Given the description of an element on the screen output the (x, y) to click on. 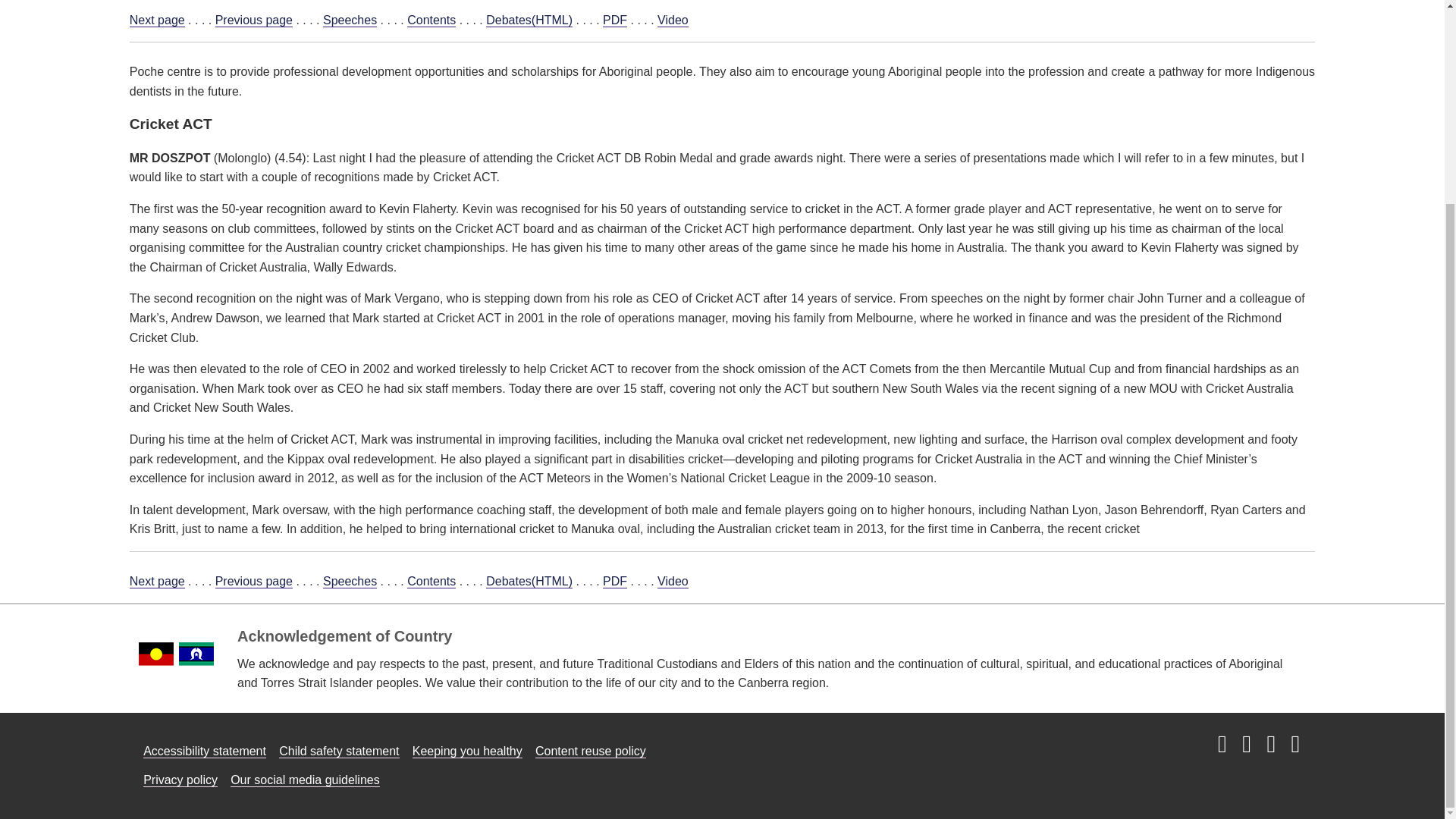
Child safety statement (338, 751)
Read our privacy policy (179, 780)
Accessibility statement (204, 751)
Previous page (253, 20)
Read our access and inclusion statement (204, 751)
Video (673, 581)
Read our content sharing and re-use policy (590, 751)
Read about how we're keeping our Assembly healthy (467, 751)
Previous page (253, 581)
Keeping you healthy (467, 751)
Next page (156, 581)
Video (673, 20)
Read our child safety committment (338, 751)
PDF (614, 20)
PDF (614, 581)
